Given the description of an element on the screen output the (x, y) to click on. 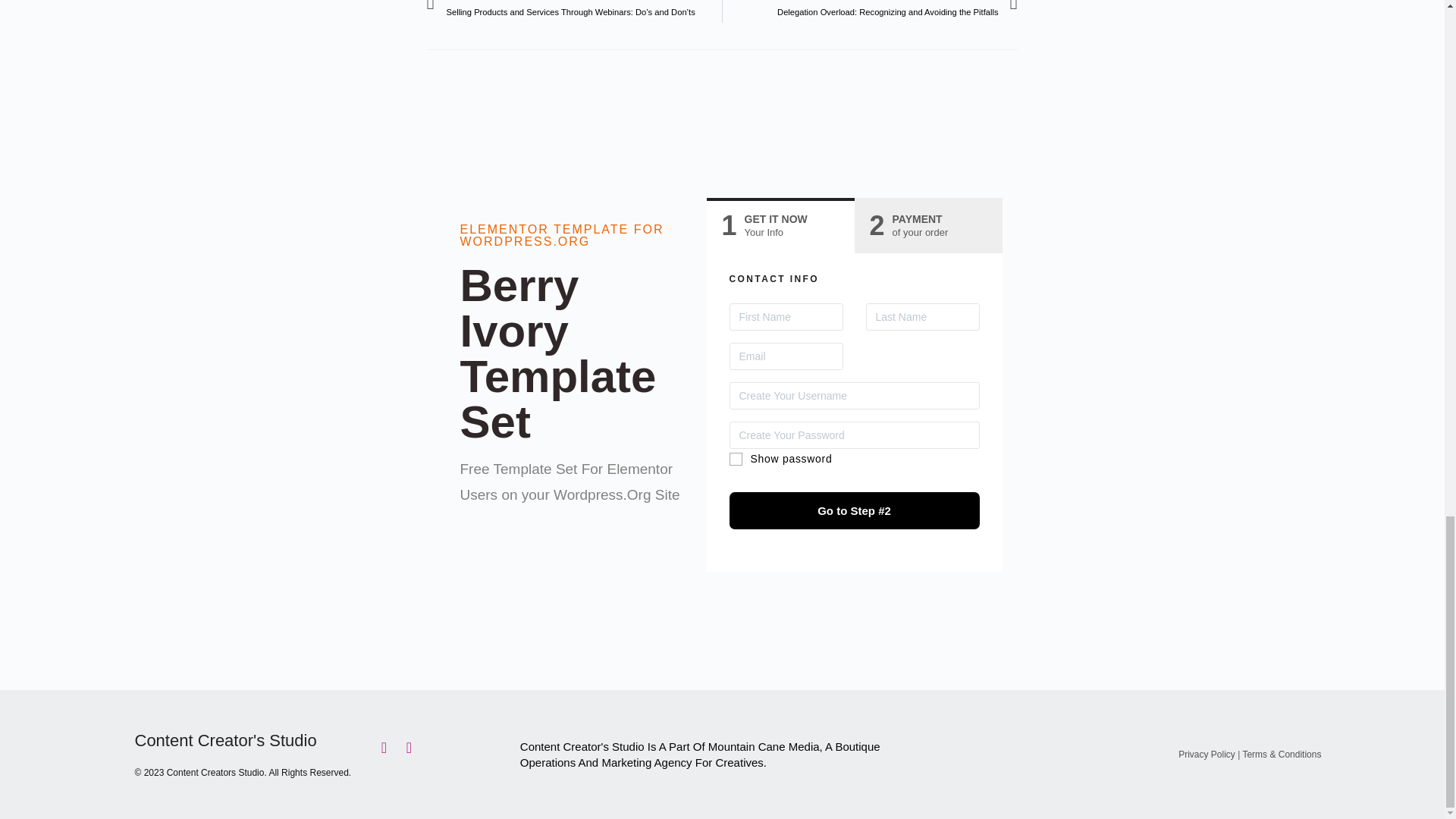
Privacy Policy (1205, 754)
Content Creator's Studio (927, 226)
